Given the description of an element on the screen output the (x, y) to click on. 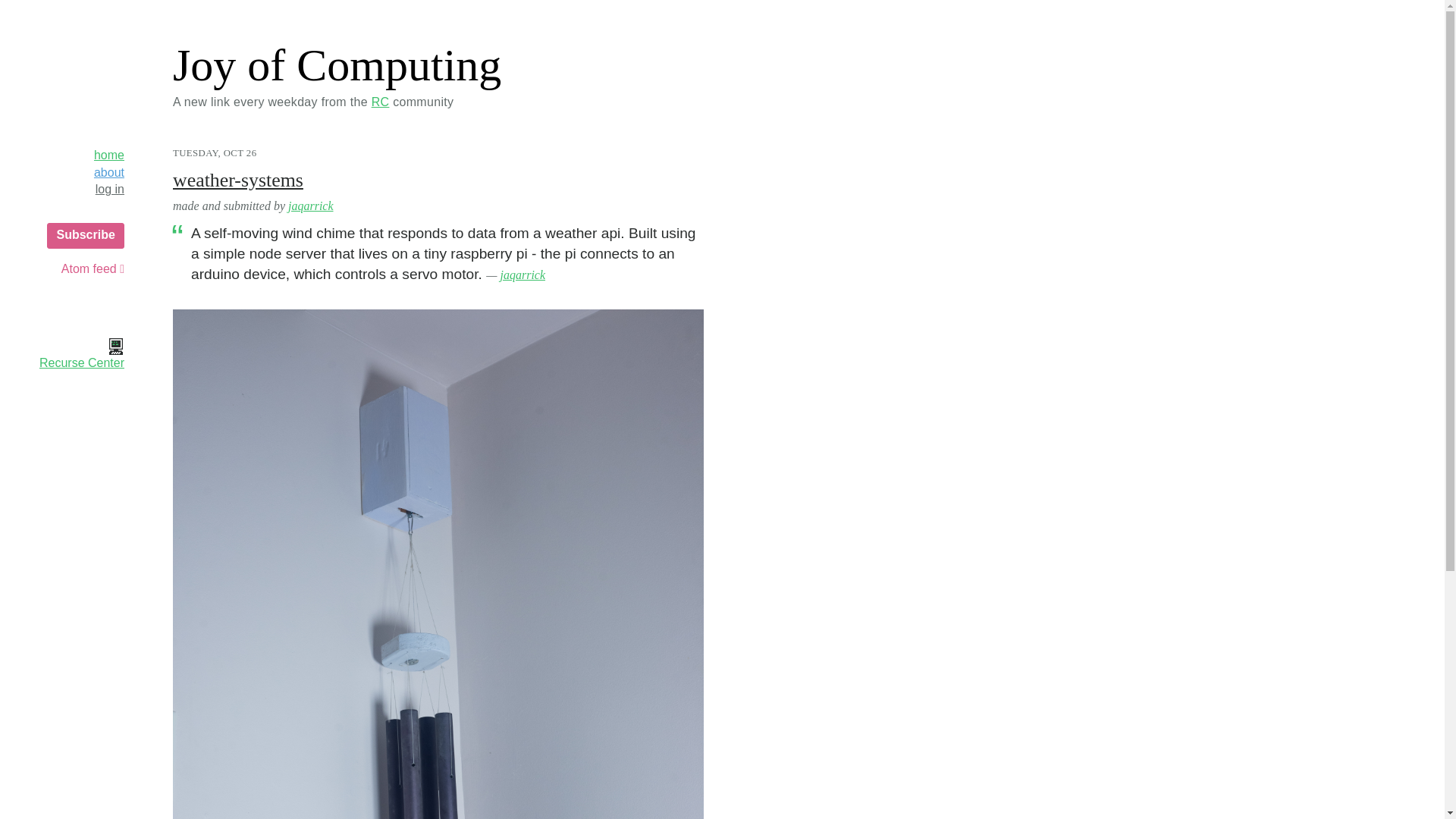
about (108, 172)
RC (380, 101)
Atom feed (92, 269)
home (108, 155)
Recurse Center (64, 355)
weather-systems (237, 179)
jaqarrick (310, 205)
jaqarrick (523, 274)
Subscribe (84, 235)
log in (109, 189)
